Given the description of an element on the screen output the (x, y) to click on. 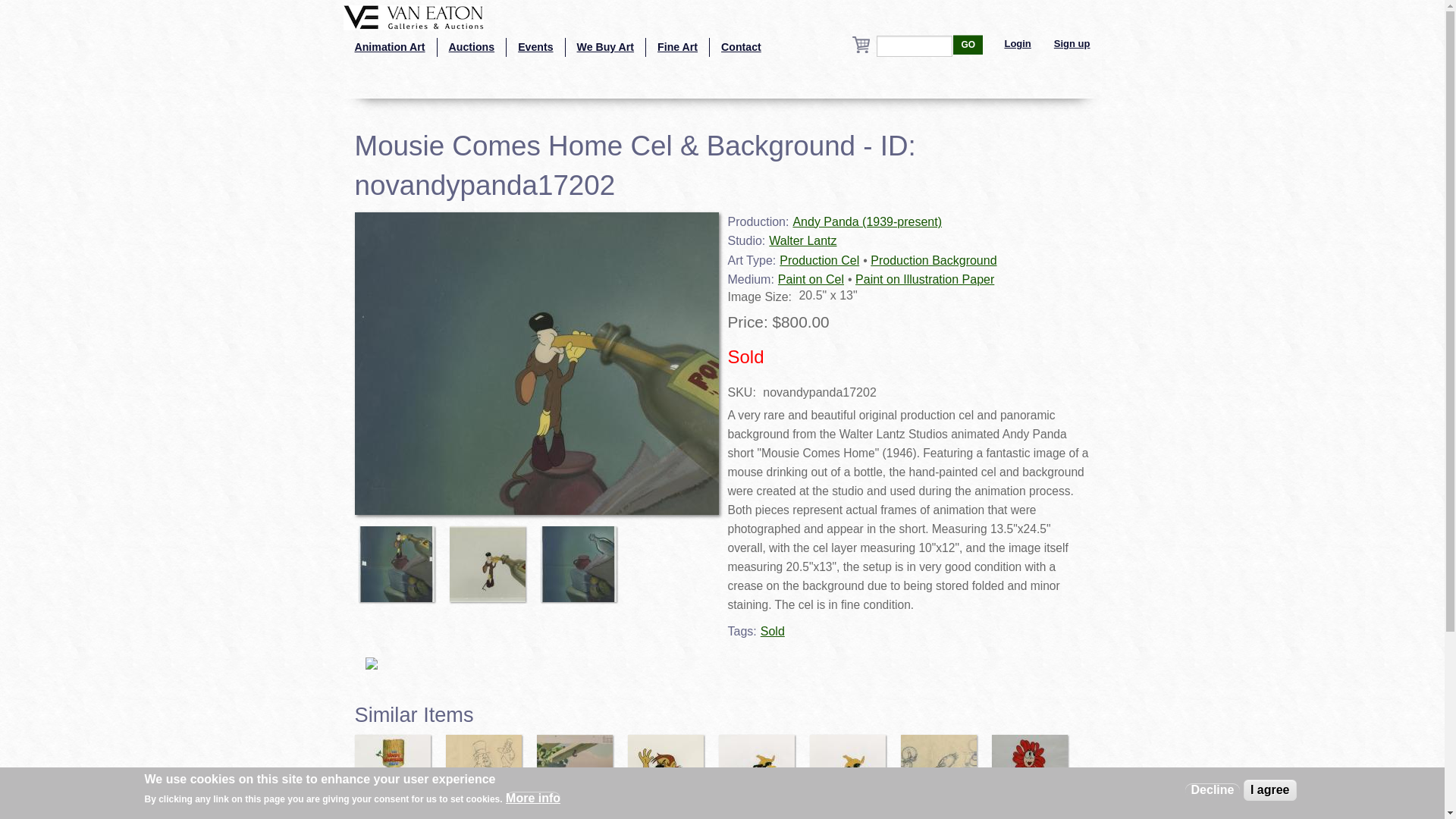
Add to cart (50, 17)
Sign up (1072, 43)
We Buy Art (606, 46)
Production Background (932, 259)
Walter Lantz (801, 240)
Paint on Cel (810, 278)
Login (1017, 43)
Production Cel (818, 259)
Fine Art (677, 46)
GO (968, 44)
Home (412, 15)
Animation Art (388, 46)
Contact (741, 46)
Paint on Illustration Paper (925, 278)
